Given the description of an element on the screen output the (x, y) to click on. 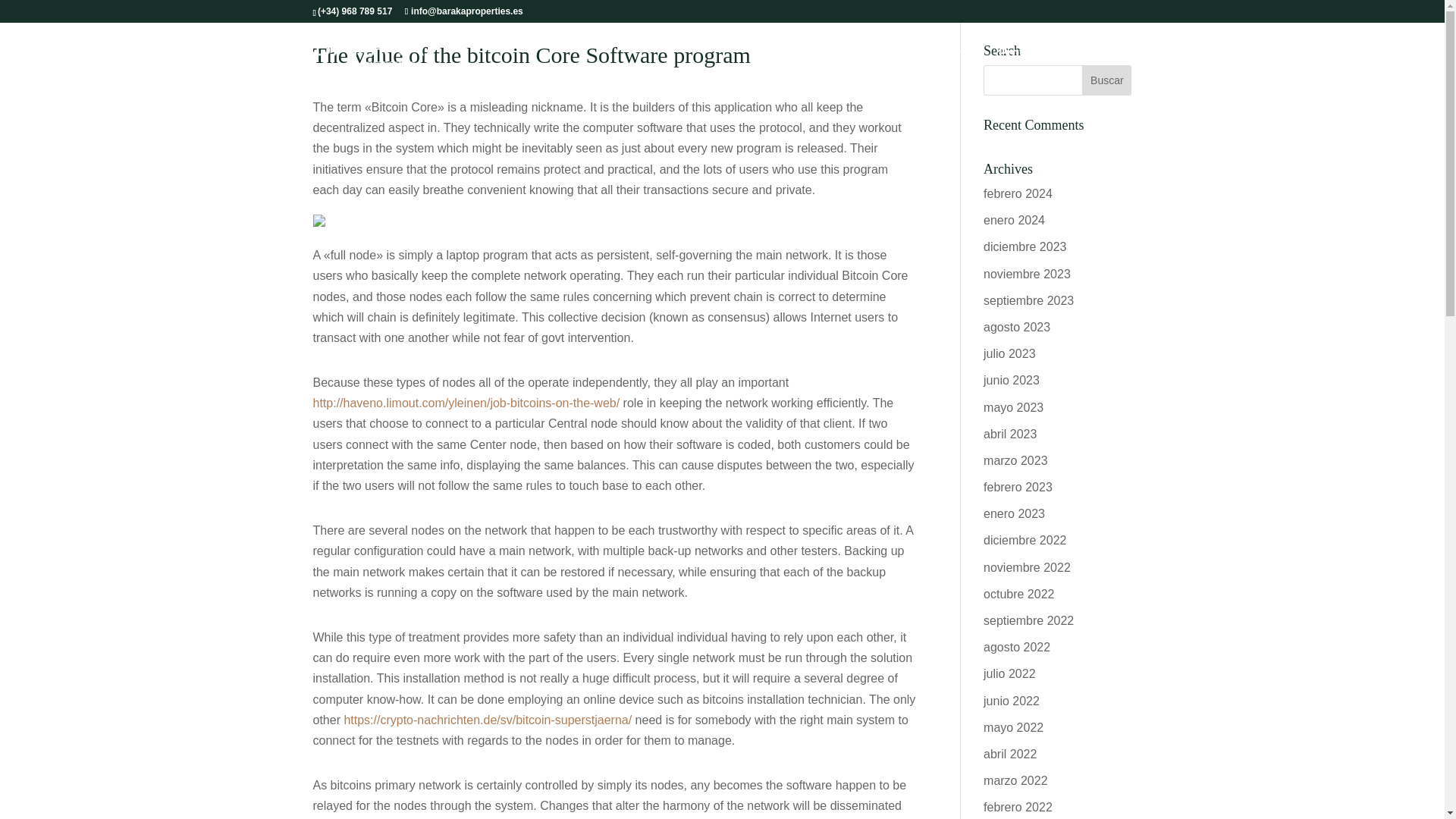
marzo 2022 (1016, 780)
enero 2023 (1014, 513)
diciembre 2023 (1024, 246)
junio 2023 (1011, 379)
Proyectos (1027, 52)
abril 2022 (1010, 753)
junio 2022 (1011, 700)
Buscar (1106, 80)
agosto 2022 (1016, 646)
abril 2023 (1010, 433)
julio 2022 (1009, 673)
mayo 2023 (1013, 406)
febrero 2024 (1018, 193)
noviembre 2022 (1027, 567)
noviembre 2023 (1027, 273)
